Given the description of an element on the screen output the (x, y) to click on. 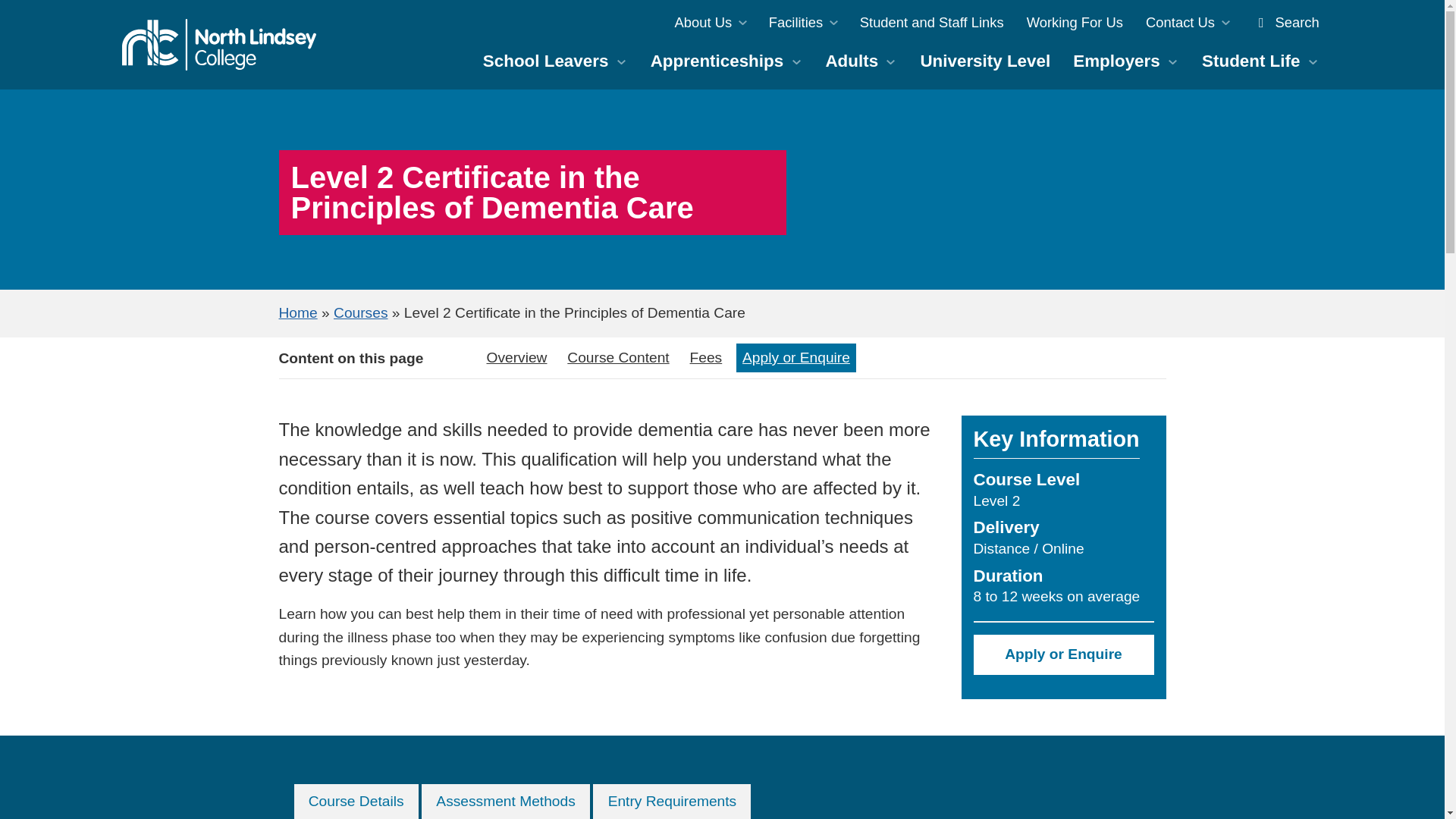
Student and Staff Links (931, 22)
About Us (710, 22)
School Leavers (555, 61)
Working For Us (1074, 22)
Facilities (802, 22)
Contact Us (1187, 22)
Search (1285, 22)
